Given the description of an element on the screen output the (x, y) to click on. 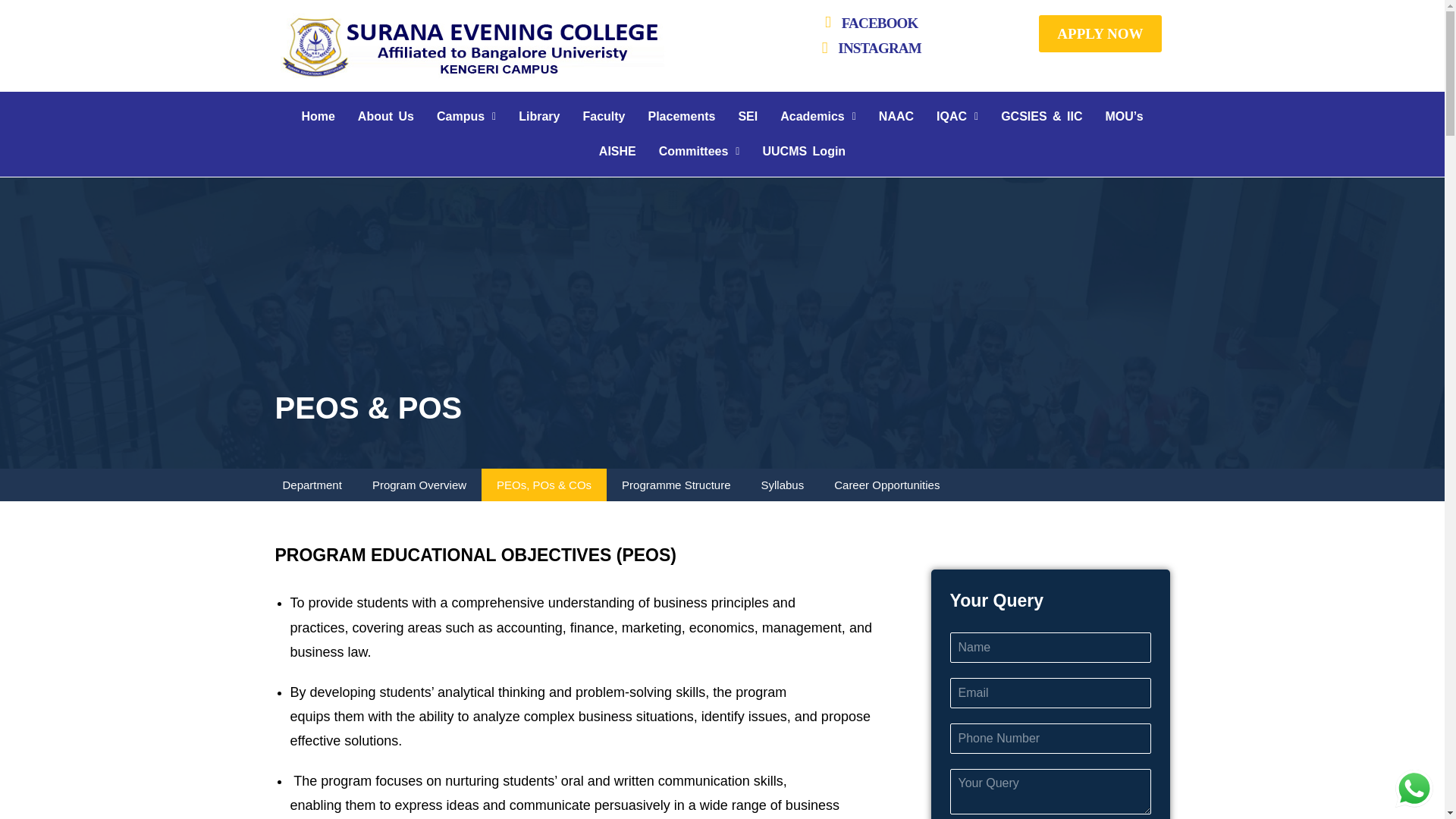
INSTAGRAM (868, 48)
Programme Structure (676, 484)
AISHE (617, 151)
Faculty (603, 116)
Phone Number (1049, 738)
About Us (385, 116)
Placements (681, 116)
Campus (465, 116)
Home (317, 116)
NAAC (895, 116)
WhatsApp us (1413, 788)
SEI (747, 116)
Program Overview (418, 484)
Email (1049, 693)
IQAC (957, 116)
